Given the description of an element on the screen output the (x, y) to click on. 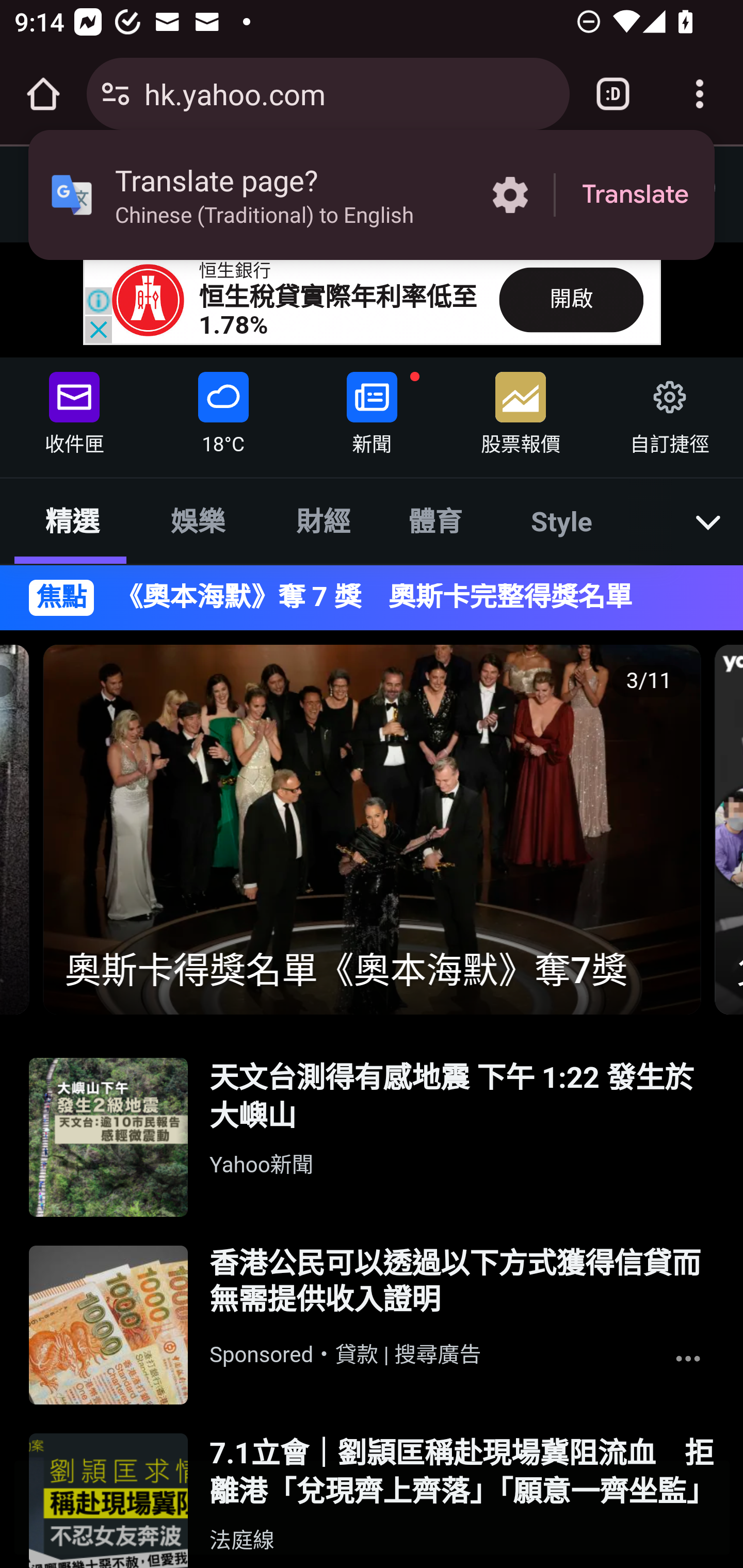
Open the home page (43, 93)
Connection is secure (115, 93)
Switch or close tabs (612, 93)
Customize and control Google Chrome (699, 93)
hk.yahoo.com (349, 92)
Translate (634, 195)
More options in the Translate page? (509, 195)
sidebar (68, 185)
恒生銀行 (235, 271)
開啟 (571, 299)
恒生稅貸實際年利率低至 1.78% 恒生稅貸實際年利率低至 1.78% (338, 311)
icon-mail 收件匣 icon-mail 收件匣 (74, 408)
weather 18°C weather 18 °C (222, 408)
icon-news 新聞 icon-news 新聞 (372, 408)
icon-finance-quote 股票報價 icon-finance-quote 股票報價 (520, 408)
icon-settings 自訂捷徑 icon-settings 自訂捷徑 (668, 408)
精選 (72, 520)
娛樂 (196, 520)
財經 (323, 520)
體育 (434, 520)
Style (562, 520)
《奧本海默》奪 7 獎　奧斯卡完整得獎名單 (404, 596)
